Given the description of an element on the screen output the (x, y) to click on. 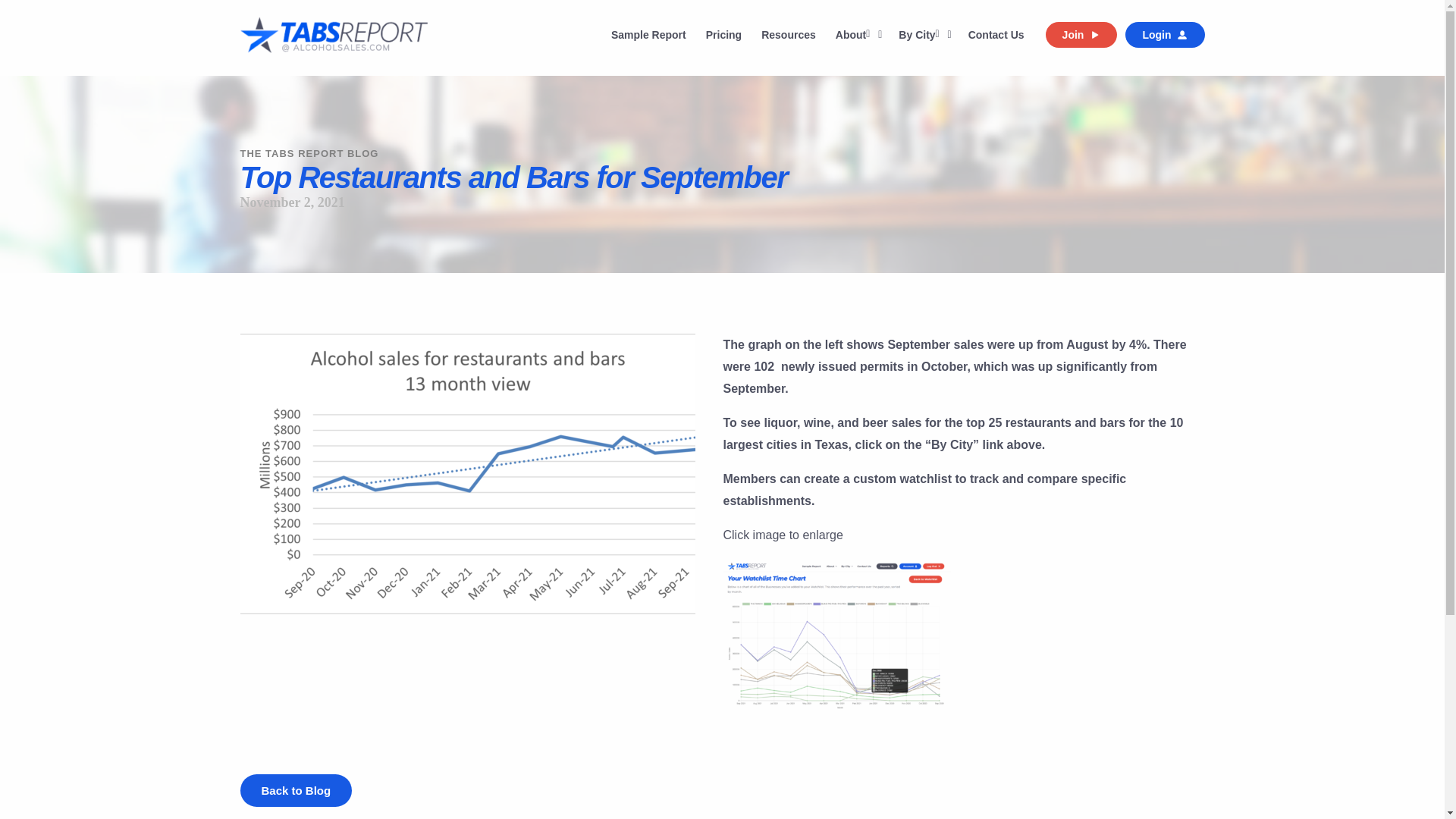
Resources (788, 34)
Contact Us (995, 34)
About (857, 34)
By City (923, 34)
Join (1081, 34)
Pricing (723, 34)
Sample Report (648, 34)
